Given the description of an element on the screen output the (x, y) to click on. 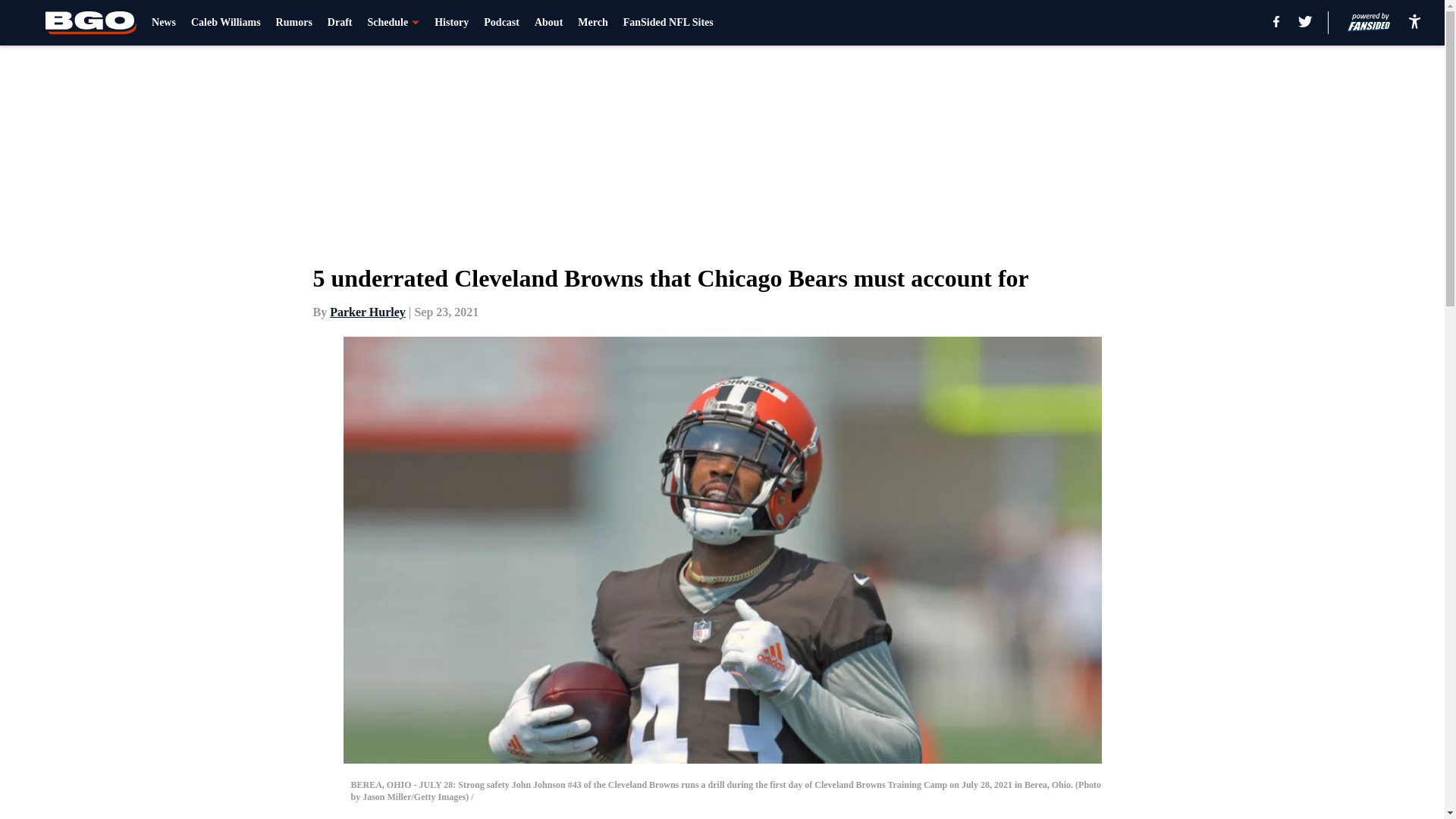
News (163, 22)
History (450, 22)
Rumors (294, 22)
Caleb Williams (225, 22)
Podcast (501, 22)
FanSided NFL Sites (668, 22)
Parker Hurley (368, 311)
Merch (592, 22)
About (548, 22)
Draft (339, 22)
